Given the description of an element on the screen output the (x, y) to click on. 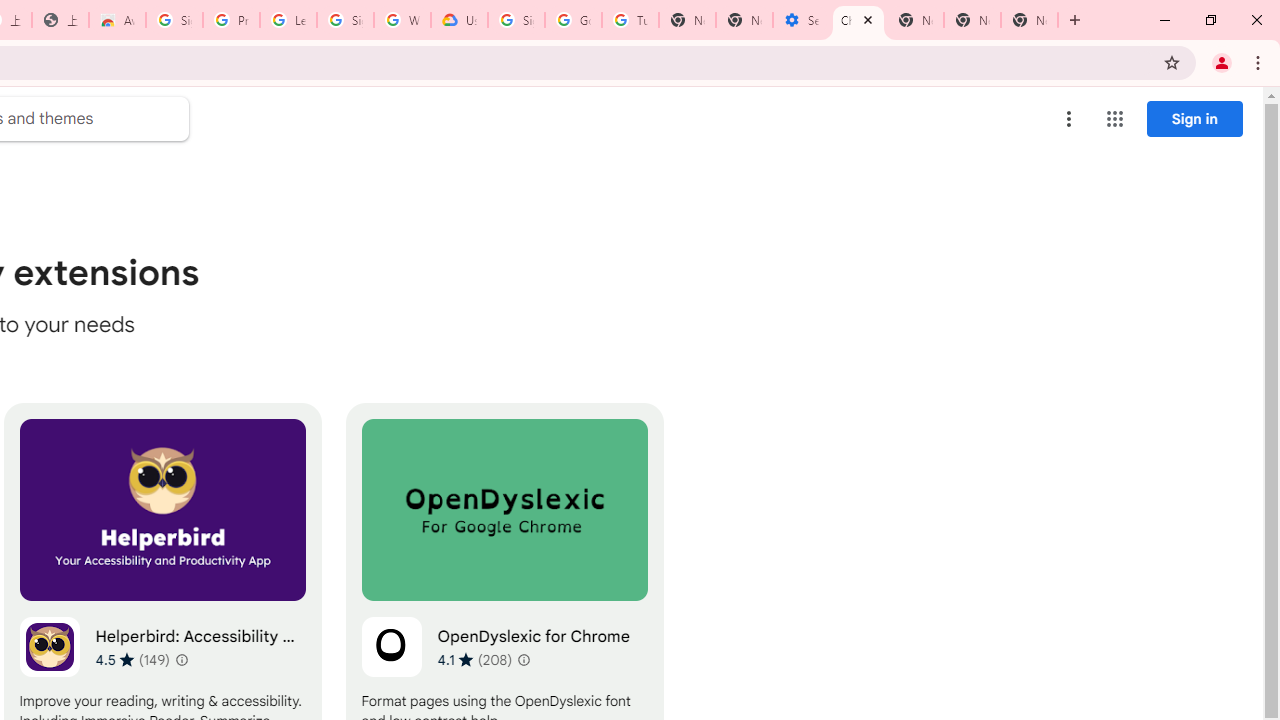
Chrome Web Store - Accessibility extensions (858, 20)
Settings - Accessibility (801, 20)
New Tab (915, 20)
New Tab (1029, 20)
Average rating 4.5 out of 5 stars. 149 ratings. (132, 659)
Awesome Screen Recorder & Screenshot - Chrome Web Store (116, 20)
Who are Google's partners? - Privacy and conditions - Google (402, 20)
Sign in - Google Accounts (345, 20)
